Given the description of an element on the screen output the (x, y) to click on. 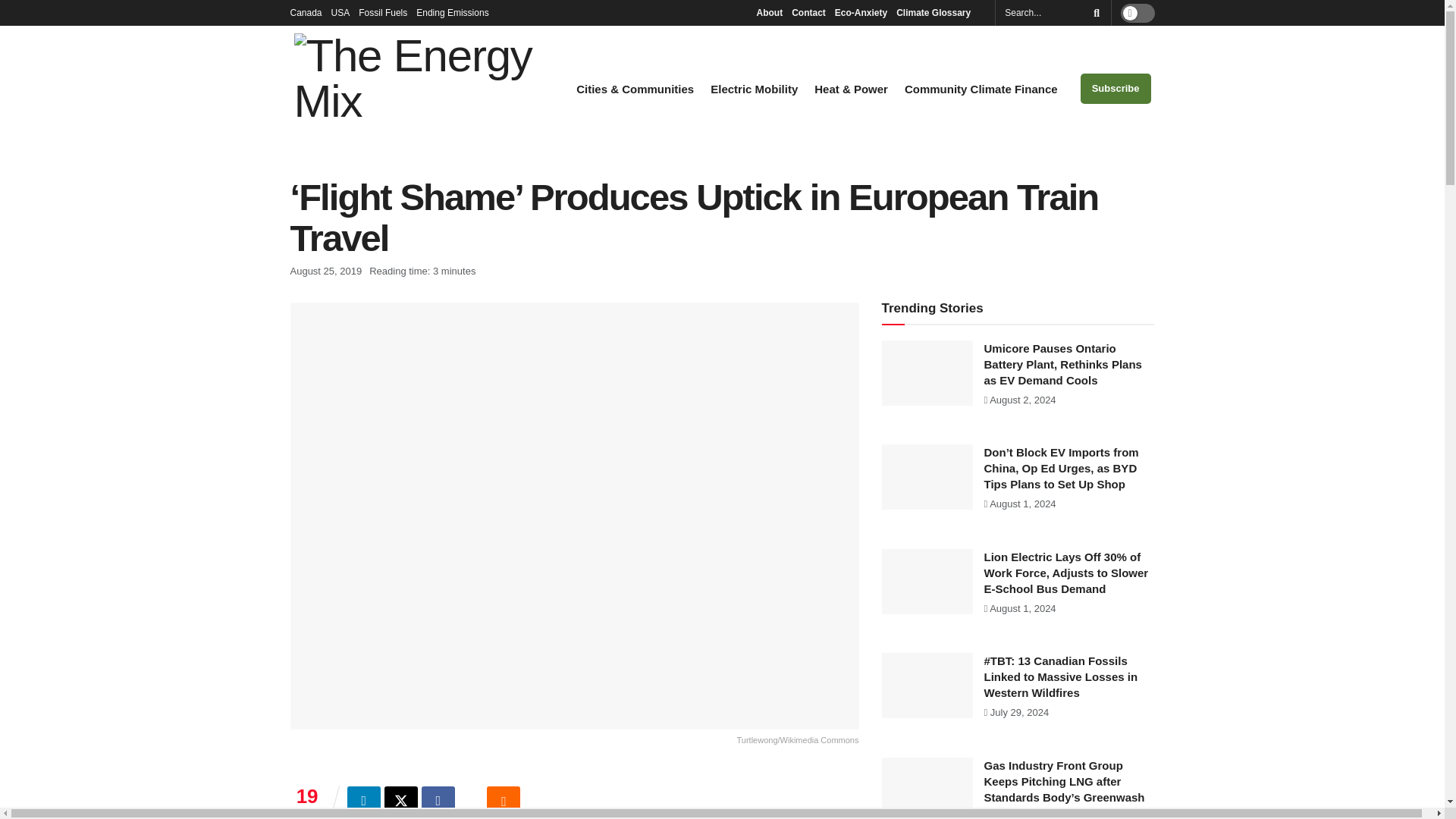
Community Climate Finance (981, 89)
Eco-Anxiety (860, 12)
Climate Glossary (937, 12)
About (769, 12)
August 25, 2019 (325, 270)
Canada (305, 12)
Ending Emissions (456, 12)
Subscribe (1115, 88)
Electric Mobility (753, 89)
Contact (808, 12)
